Given the description of an element on the screen output the (x, y) to click on. 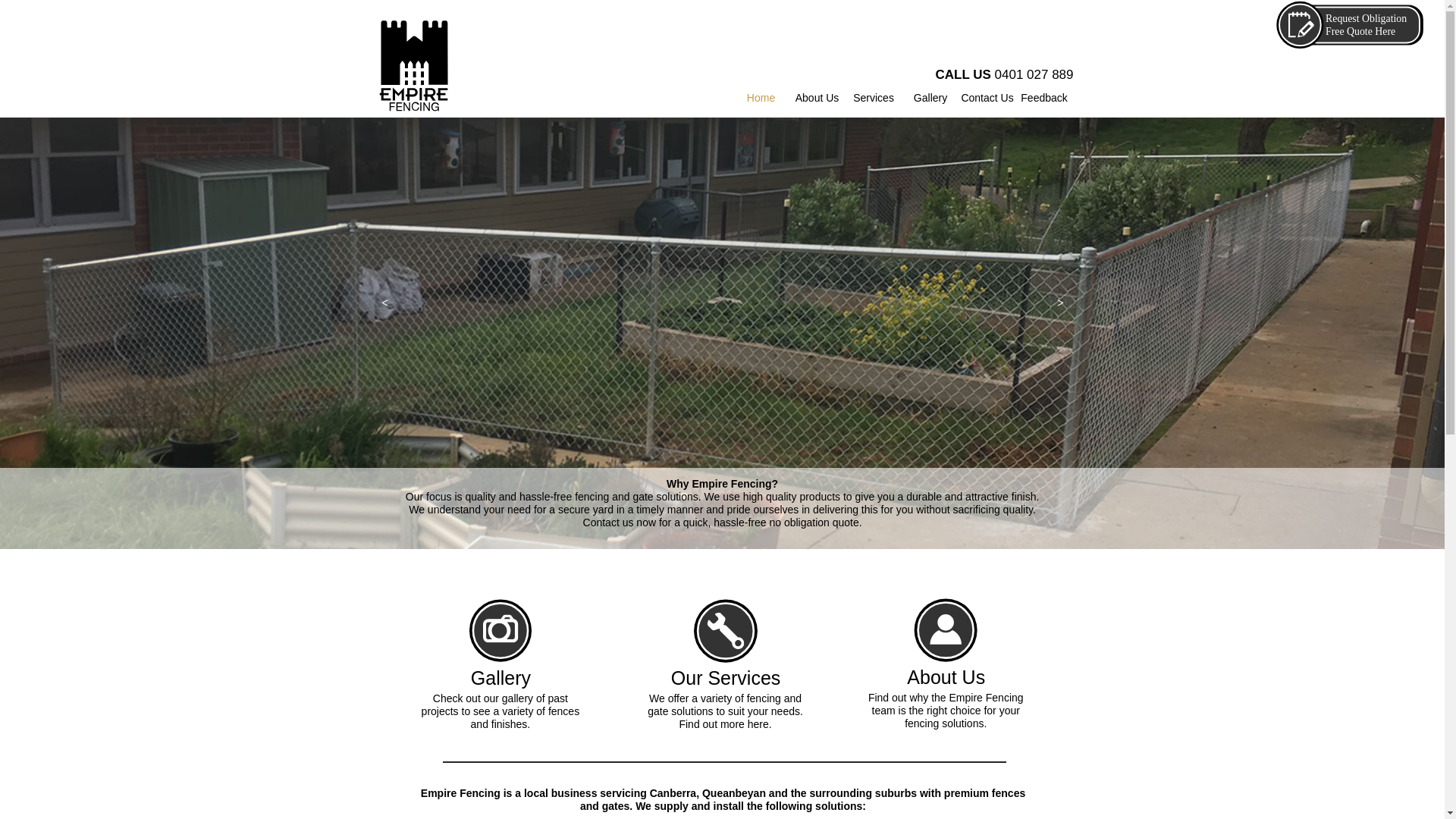
About Us Element type: text (945, 678)
Services Element type: text (873, 98)
Feedback Element type: text (1044, 98)
Contact Us Element type: text (987, 98)
Gallery Element type: text (930, 98)
Home Element type: text (761, 98)
About Us Element type: text (817, 98)
CALL US 0401 027 889 Element type: text (980, 76)
Gallery Element type: text (500, 679)
Our Services Element type: text (725, 679)
